Given the description of an element on the screen output the (x, y) to click on. 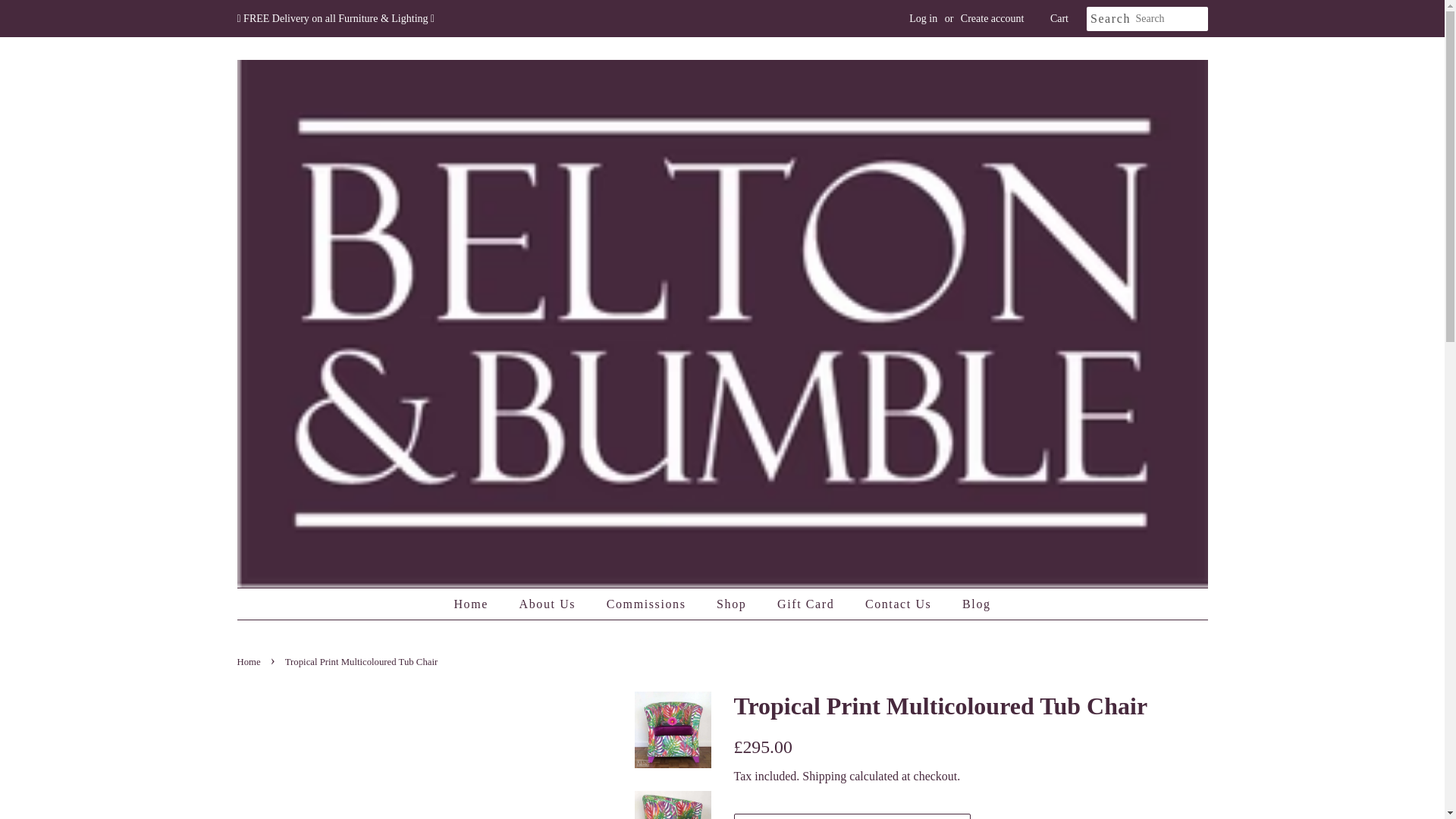
Cart (1058, 18)
Log in (922, 18)
Create account (992, 18)
Back to the frontpage (249, 661)
Search (1110, 18)
